Given the description of an element on the screen output the (x, y) to click on. 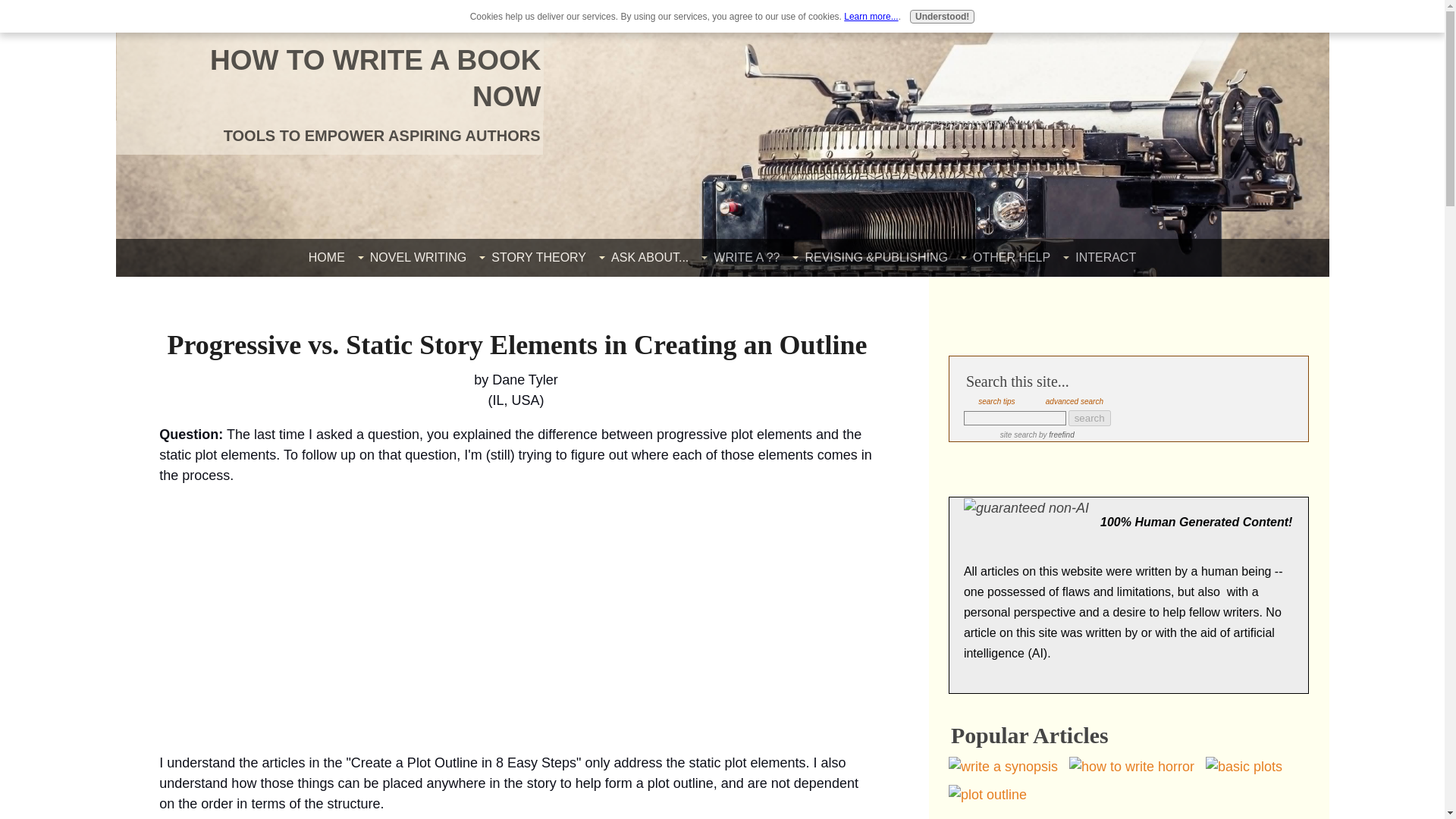
HOW TO WRITE A BOOK NOW (374, 78)
plot outline (987, 794)
guaranteed non-AI (1026, 507)
HOME (326, 257)
search tips (996, 401)
Go to How to Write a Synopsis of Your Novel (1008, 766)
Go to How to Outline A Plot In 8 Easy Steps (993, 794)
how to write horror (1130, 766)
by freefind (1055, 434)
write a synopsis (1003, 766)
